Given the description of an element on the screen output the (x, y) to click on. 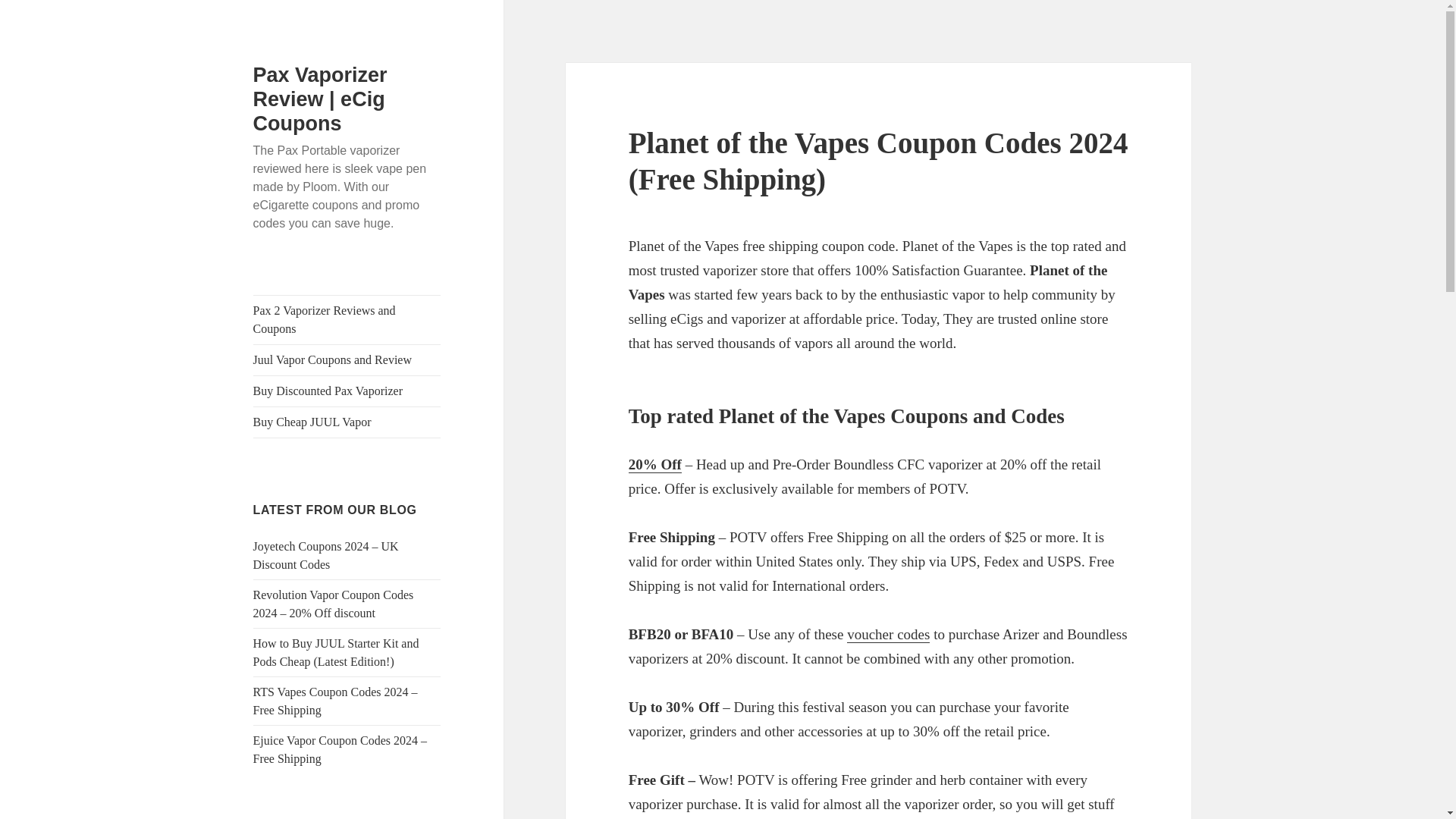
Juul Vapor Coupons and Review (347, 359)
Buy Discounted Pax Vaporizer (347, 390)
Pax 2 Vaporizer Reviews and Coupons (347, 319)
Buy Cheap JUUL Vapor (347, 422)
voucher codes (888, 634)
